Given the description of an element on the screen output the (x, y) to click on. 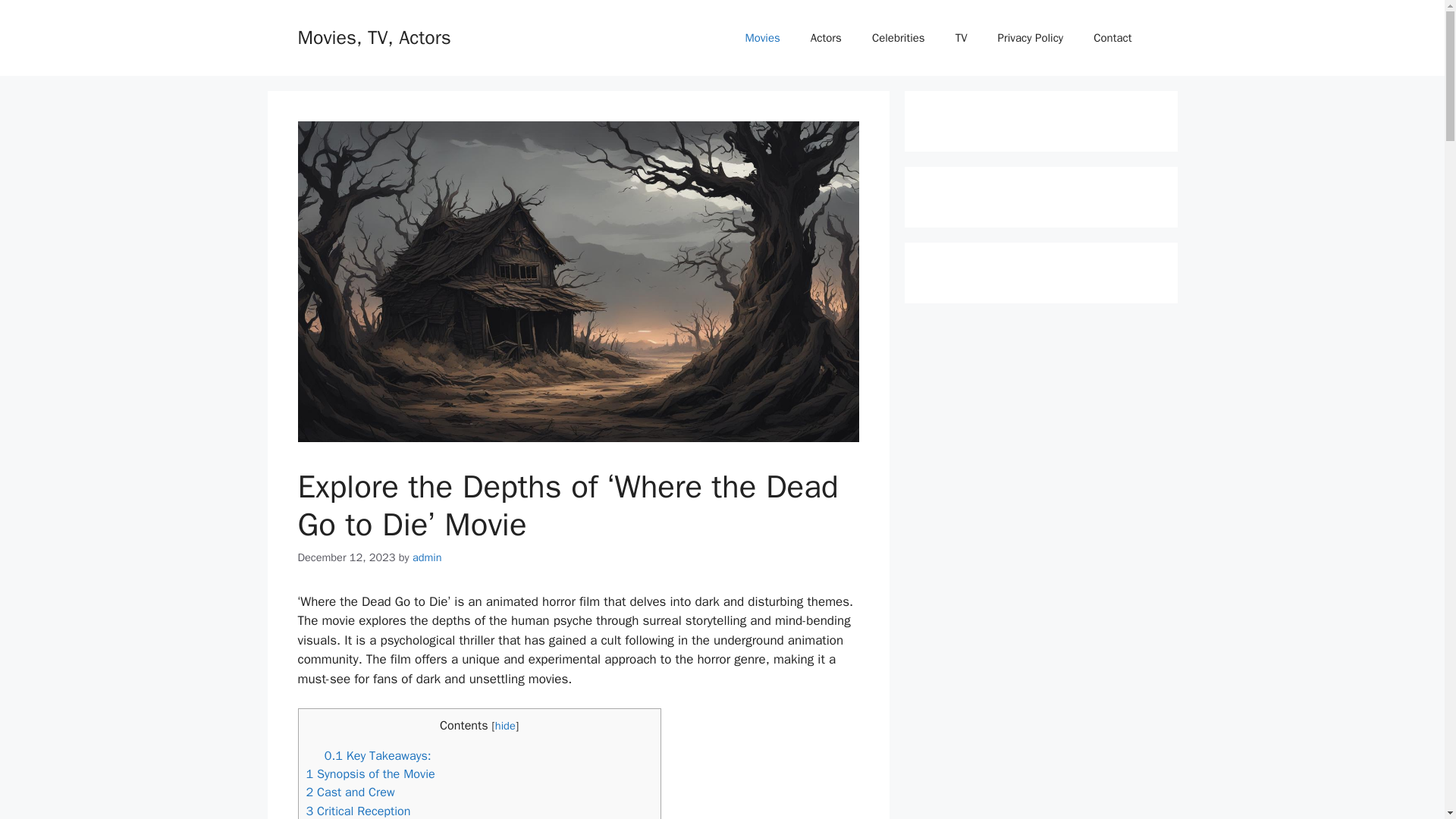
0.1 Key Takeaways: (377, 755)
View all posts by admin (427, 557)
hide (505, 725)
Movies (761, 37)
Actors (825, 37)
3 Critical Reception (357, 811)
Movies, TV, Actors (373, 37)
Celebrities (898, 37)
2 Cast and Crew (349, 791)
1 Synopsis of the Movie (370, 773)
